Given the description of an element on the screen output the (x, y) to click on. 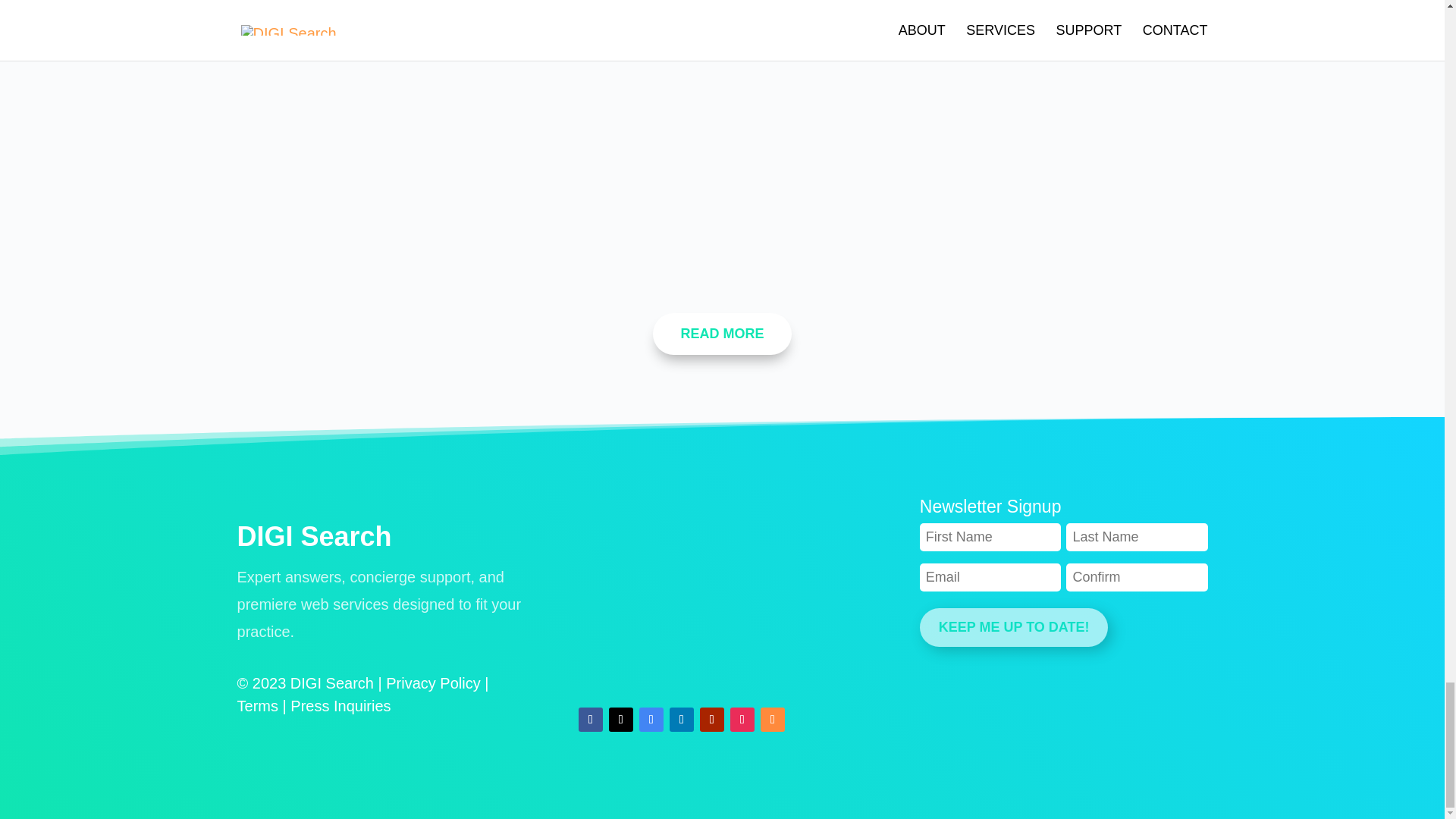
Follow on Instagram (742, 719)
Follow on Youtube (711, 719)
Follow on Google (651, 719)
Follow on LinkedIn (681, 719)
Follow on Facebook (590, 719)
Follow on X (620, 719)
Follow on RSS (772, 719)
Keep me up to date! (1014, 627)
